Given the description of an element on the screen output the (x, y) to click on. 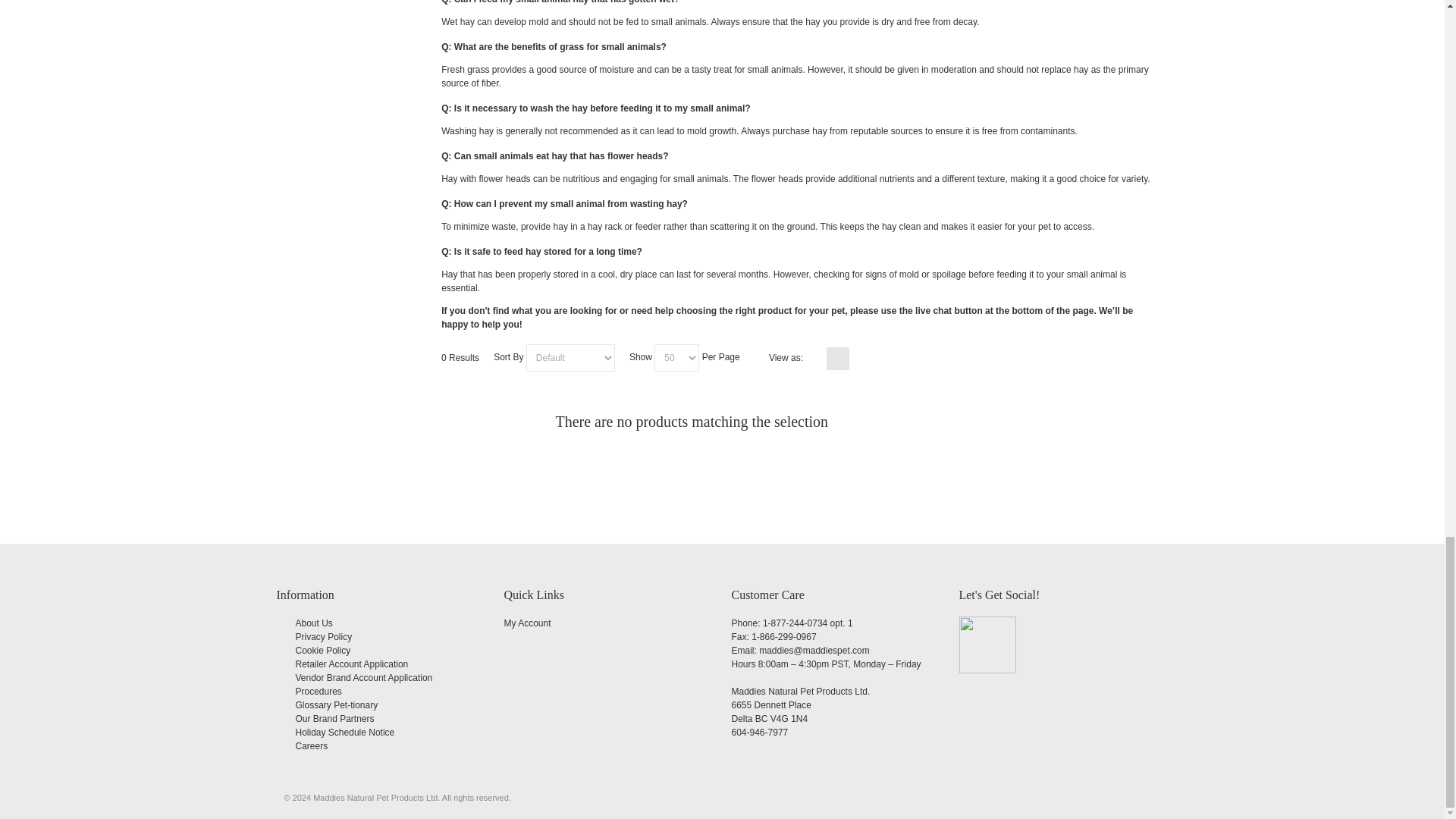
List (837, 358)
Grid (818, 358)
Line (856, 358)
